Given the description of an element on the screen output the (x, y) to click on. 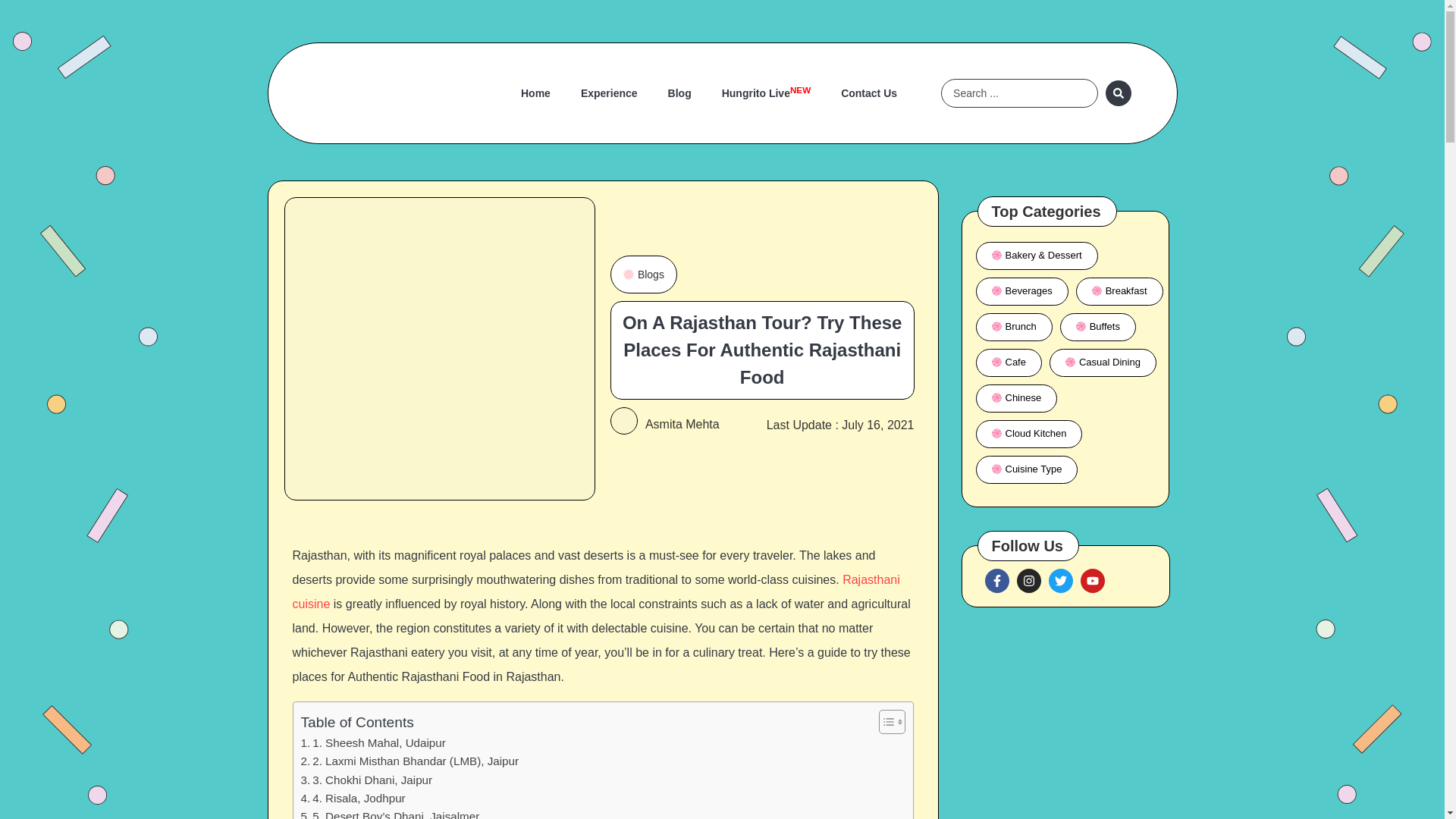
4. Risala, Jodhpur (351, 798)
3. Chokhi Dhani, Jaipur (765, 93)
Blog (365, 780)
Experience (679, 93)
Home (609, 93)
1. Sheesh Mahal, Udaipur (535, 93)
Contact Us (372, 742)
Asmita Mehta (868, 93)
Blogs (682, 423)
